Given the description of an element on the screen output the (x, y) to click on. 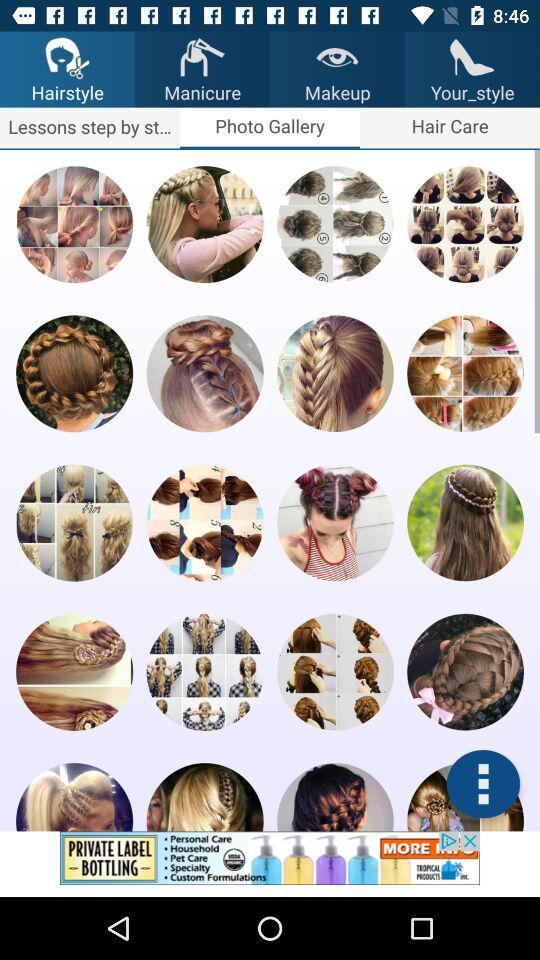
hair colouring page (335, 671)
